Given the description of an element on the screen output the (x, y) to click on. 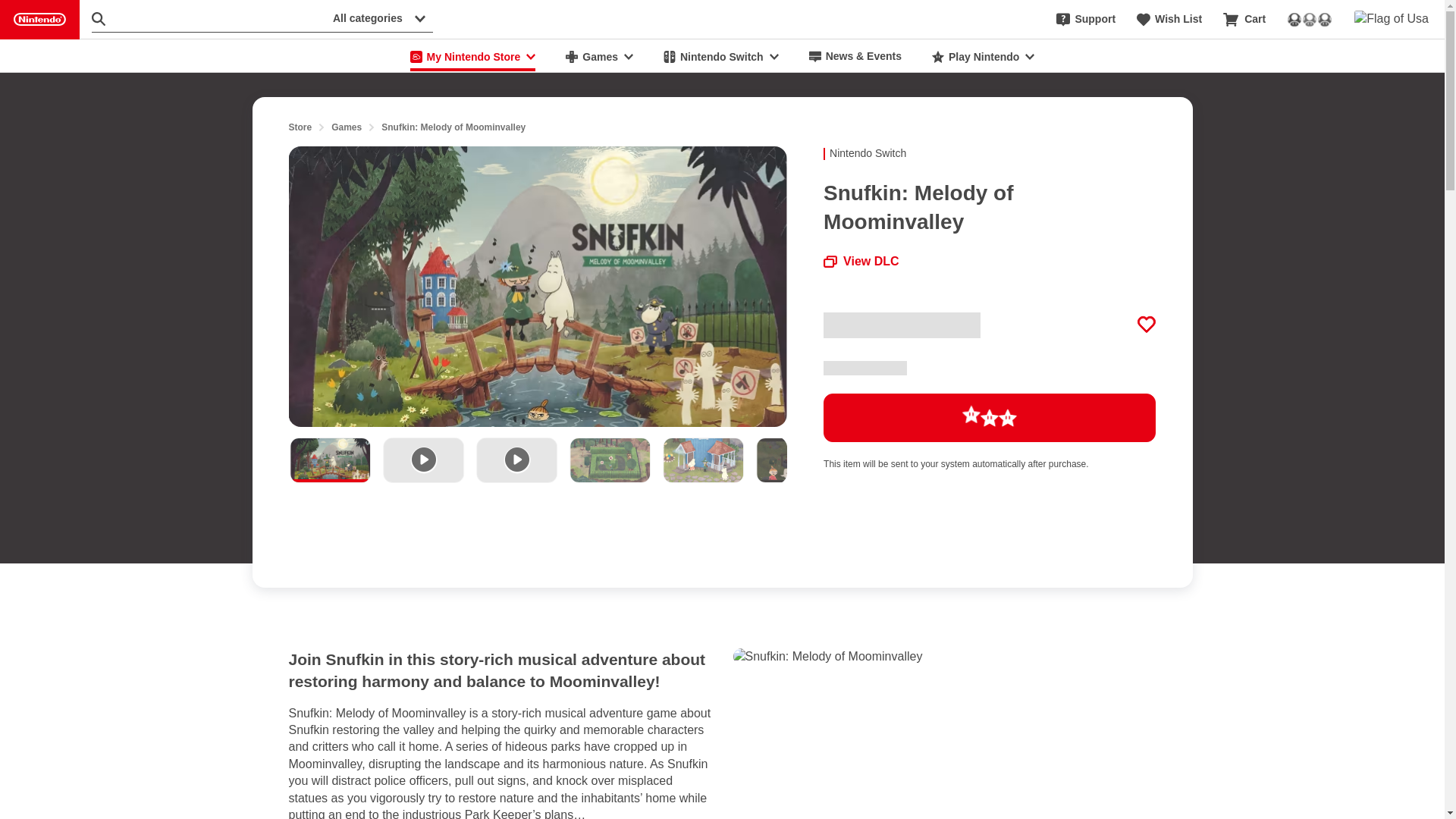
Games (346, 127)
Games (599, 56)
Store (299, 127)
View DLC (861, 261)
Play Nintendo (983, 56)
Cart (1244, 19)
Support (1086, 19)
My Nintendo Store (472, 56)
Nintendo (40, 19)
Wish List (1169, 19)
Add to Wish List (1146, 324)
Nintendo Switch (720, 56)
